Given the description of an element on the screen output the (x, y) to click on. 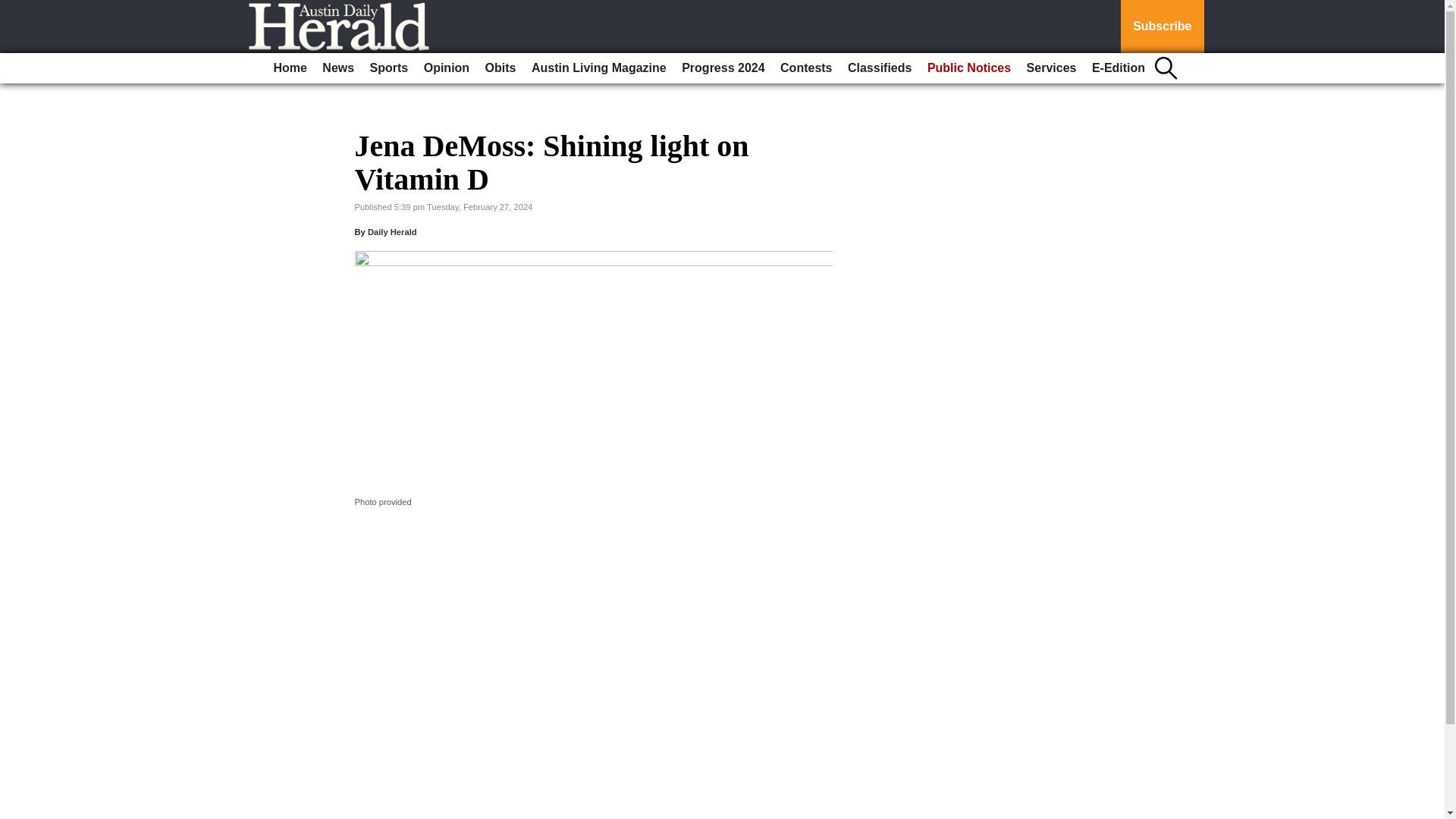
Public Notices (968, 68)
Contests (806, 68)
Sports (389, 68)
Obits (500, 68)
Classifieds (879, 68)
Progress 2024 (722, 68)
News (337, 68)
Opinion (446, 68)
Home (289, 68)
Services (1051, 68)
